Given the description of an element on the screen output the (x, y) to click on. 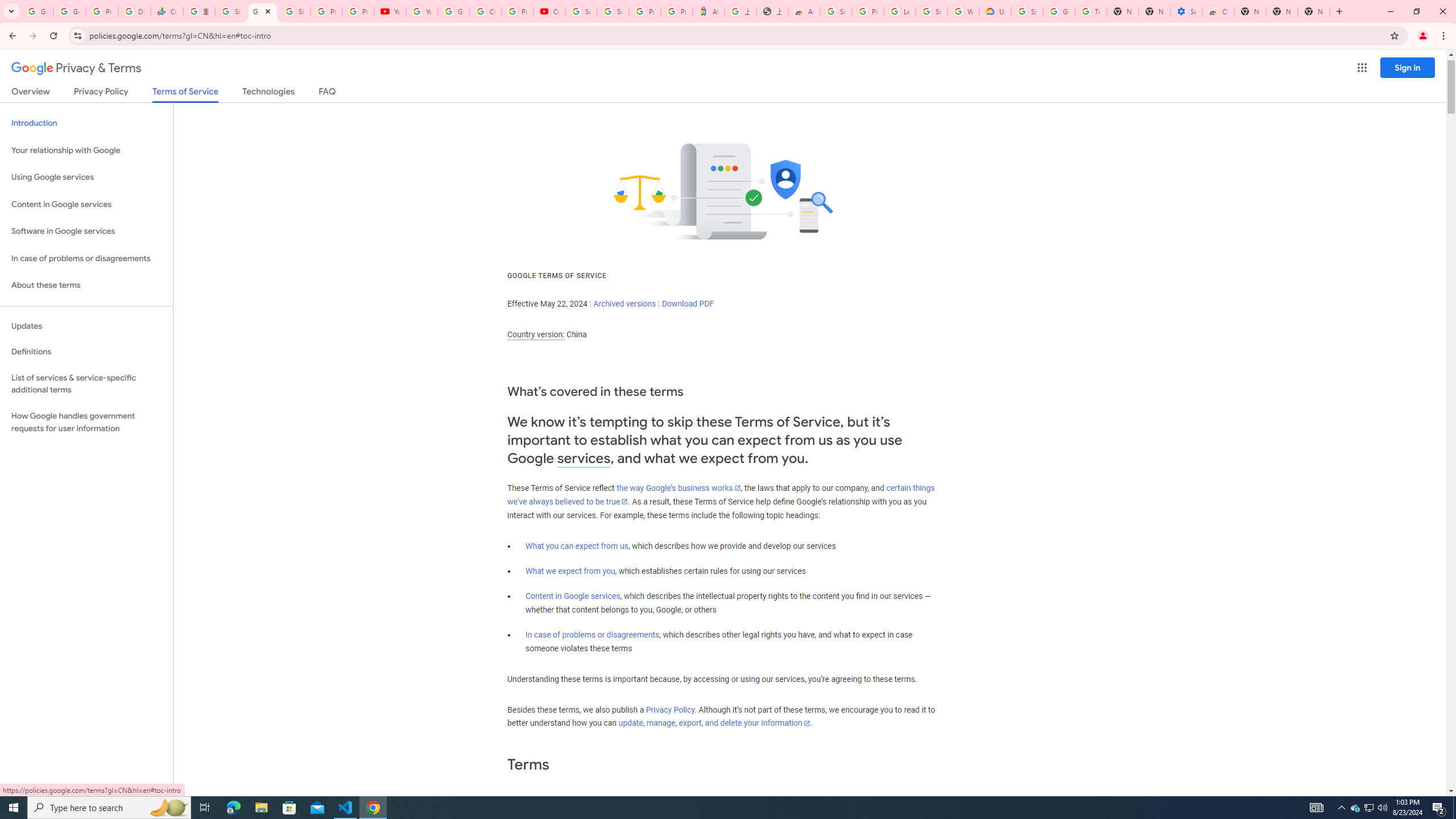
New Tab (1313, 11)
Settings - Accessibility (1185, 11)
What you can expect from us (576, 545)
Sign in - Google Accounts (931, 11)
update, manage, export, and delete your information (714, 723)
Who are Google's partners? - Privacy and conditions - Google (963, 11)
Definitions (86, 352)
Awesome Screen Recorder & Screenshot - Chrome Web Store (804, 11)
